Given the description of an element on the screen output the (x, y) to click on. 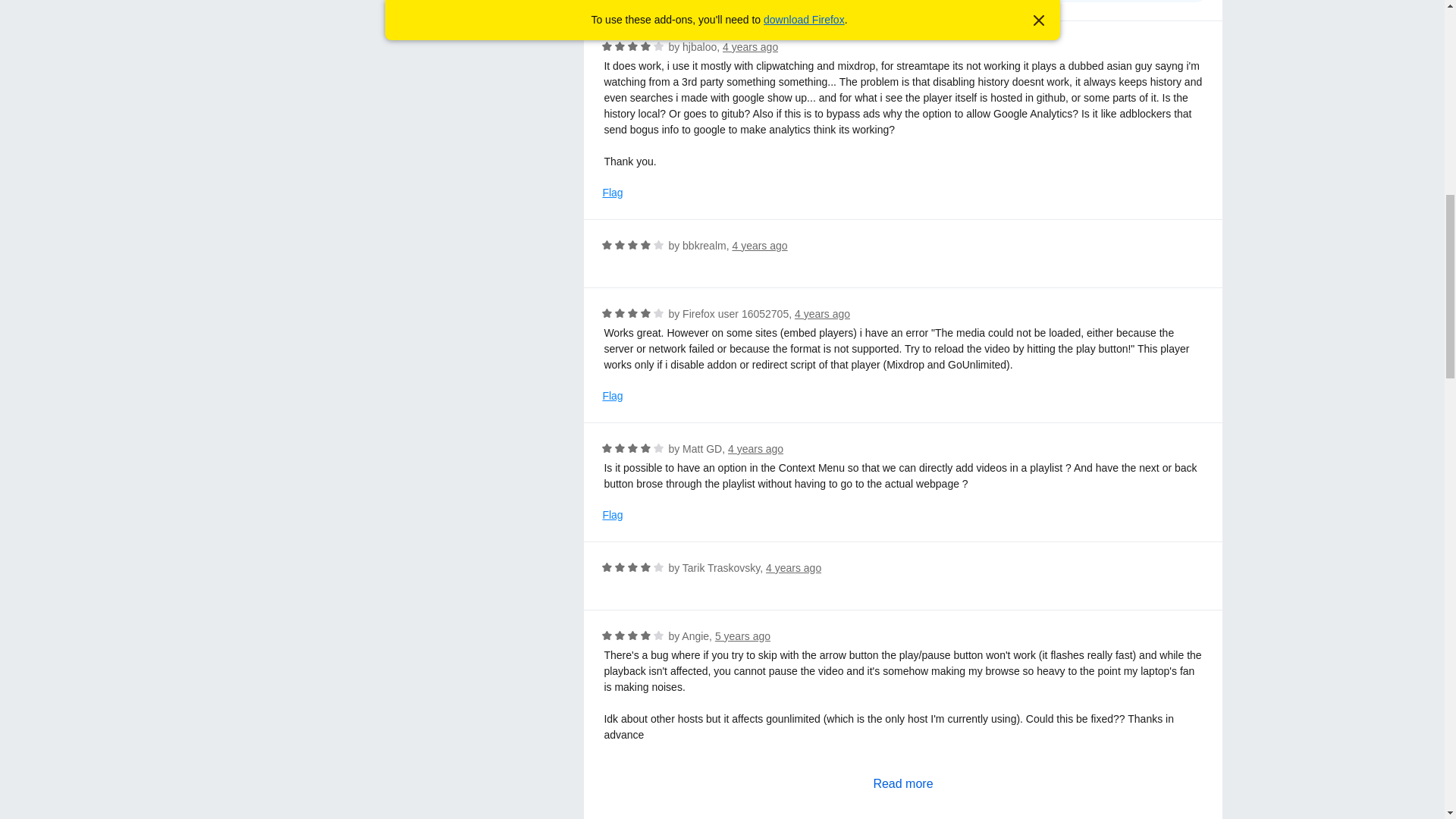
Flag (612, 396)
Flag (612, 192)
4 years ago (822, 313)
5 years ago (742, 635)
4 years ago (755, 449)
4 years ago (759, 245)
4 years ago (749, 46)
4 years ago (793, 567)
Flag (612, 514)
